Given the description of an element on the screen output the (x, y) to click on. 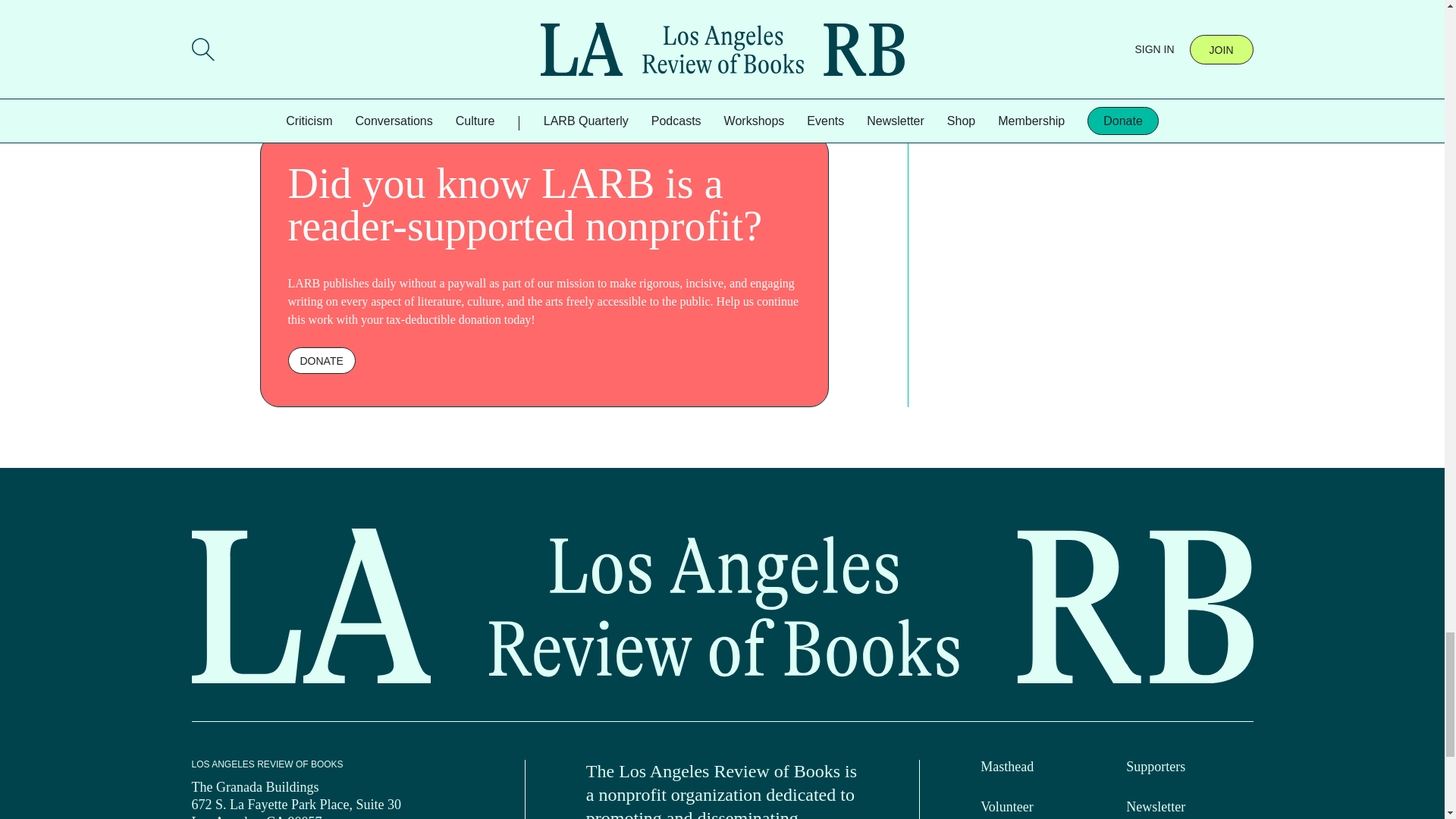
DAVID ROEDIGER (298, 58)
DONATE (321, 360)
